Given the description of an element on the screen output the (x, y) to click on. 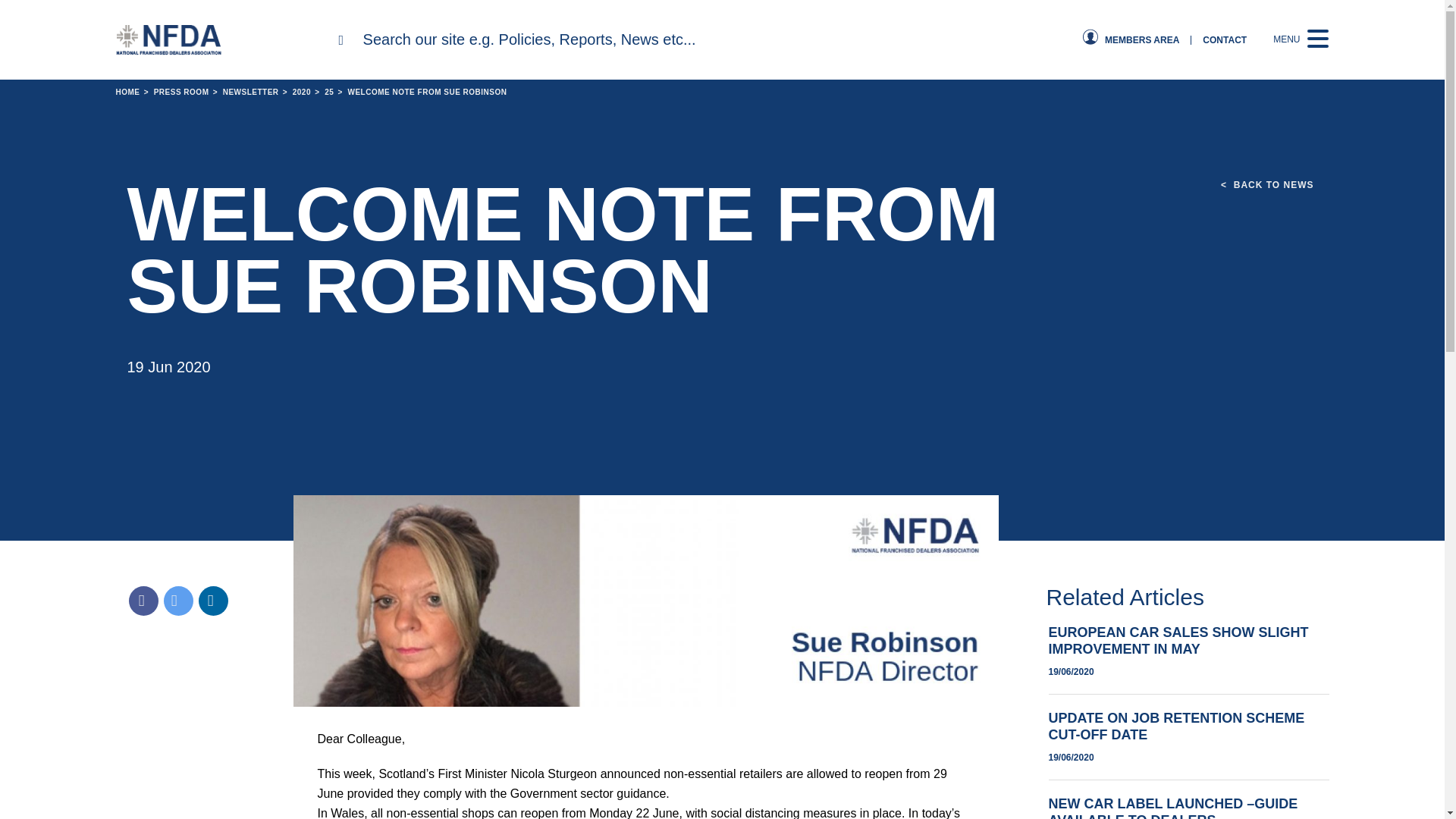
BACK TO NEWS (1267, 184)
2020 (296, 91)
UPDATE ON JOB RETENTION SCHEME CUT-OFF DATE (1176, 726)
PRESS ROOM (174, 91)
25 (323, 91)
CONTACT (1224, 39)
NEWSLETTER (243, 91)
HOME (127, 91)
EUROPEAN CAR SALES SHOW SLIGHT IMPROVEMENT IN MAY (1177, 640)
MEMBERS AREA (1142, 39)
